Given the description of an element on the screen output the (x, y) to click on. 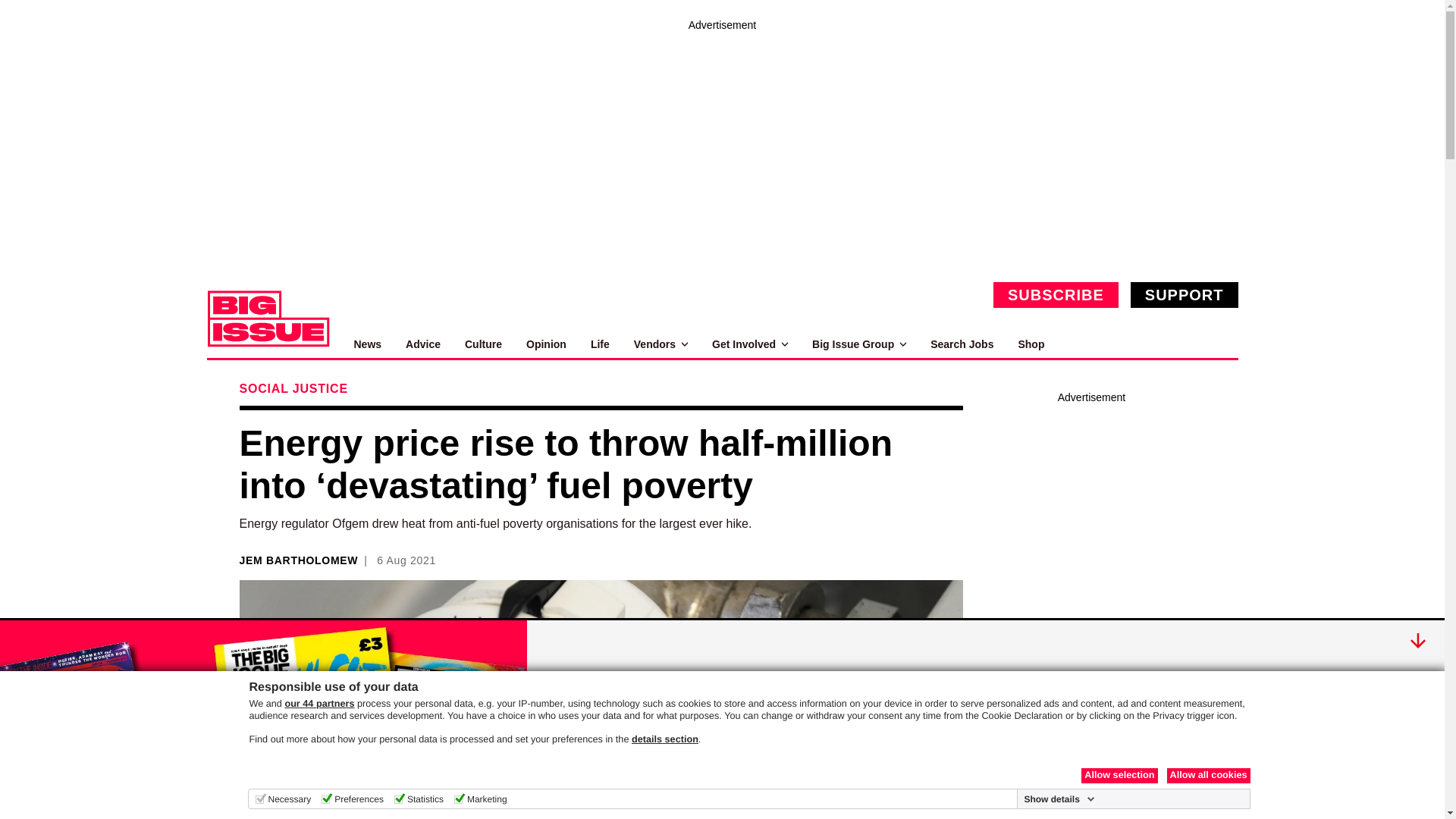
Allow selection (1119, 775)
Show details (1058, 799)
details section (664, 738)
Allow all cookies (1207, 775)
our 44 partners (318, 703)
